Given the description of an element on the screen output the (x, y) to click on. 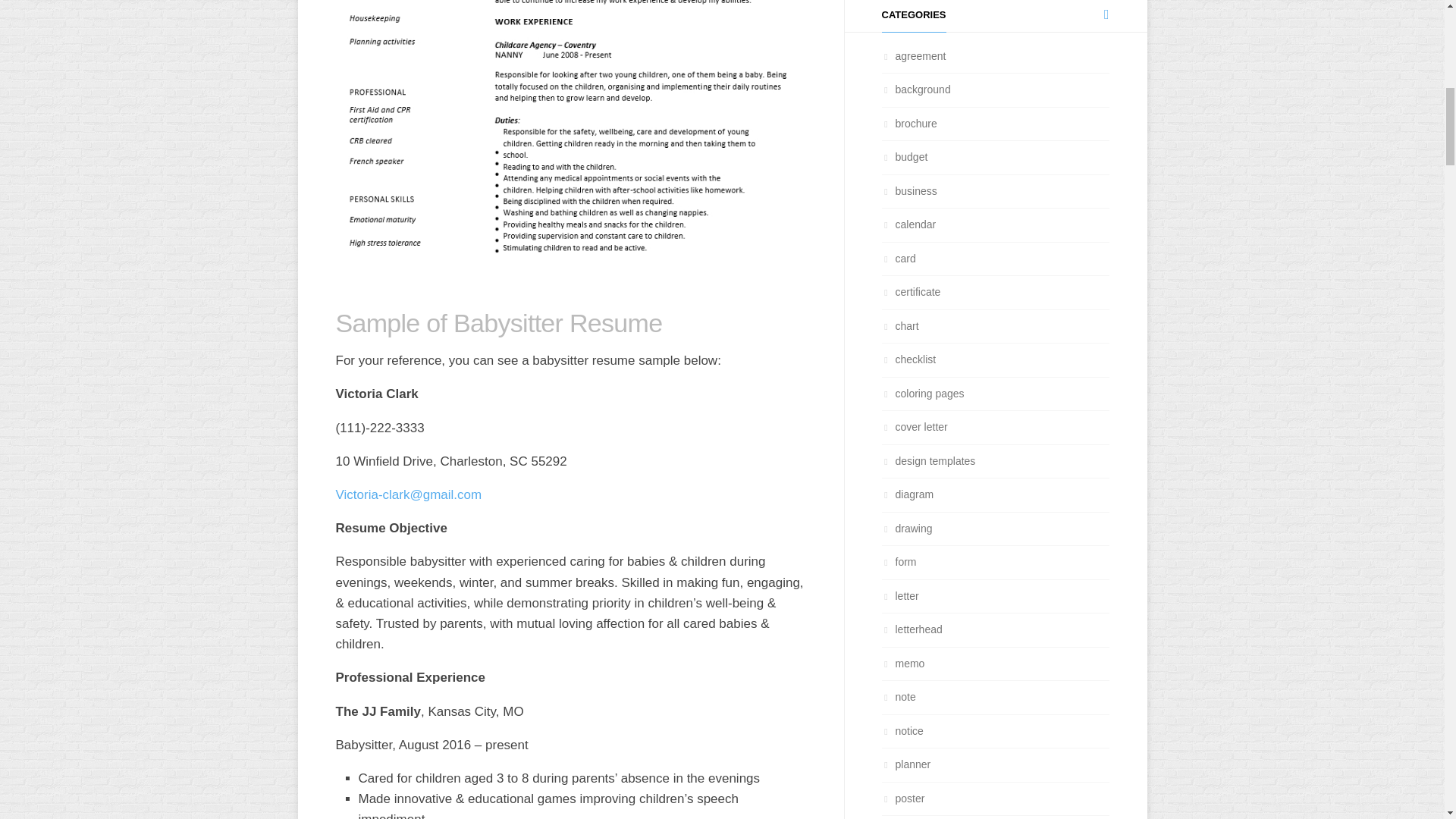
calendar (908, 224)
business (908, 191)
coloring pages (921, 392)
background (915, 89)
cover letter (913, 426)
certificate (910, 291)
card (897, 257)
checklist (908, 358)
chart (899, 326)
brochure (908, 122)
